Given the description of an element on the screen output the (x, y) to click on. 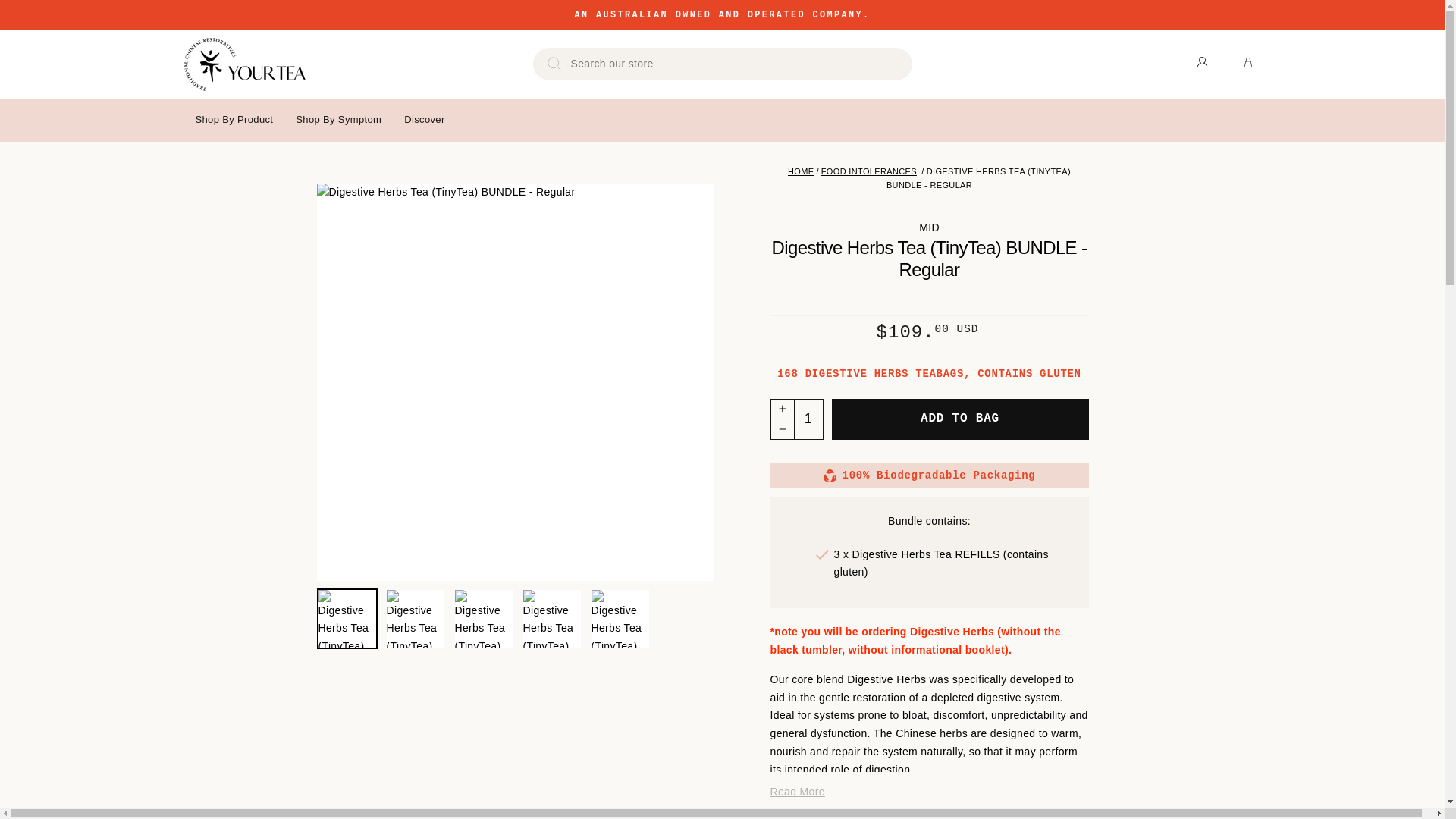
Back to the frontpage (800, 171)
